Given the description of an element on the screen output the (x, y) to click on. 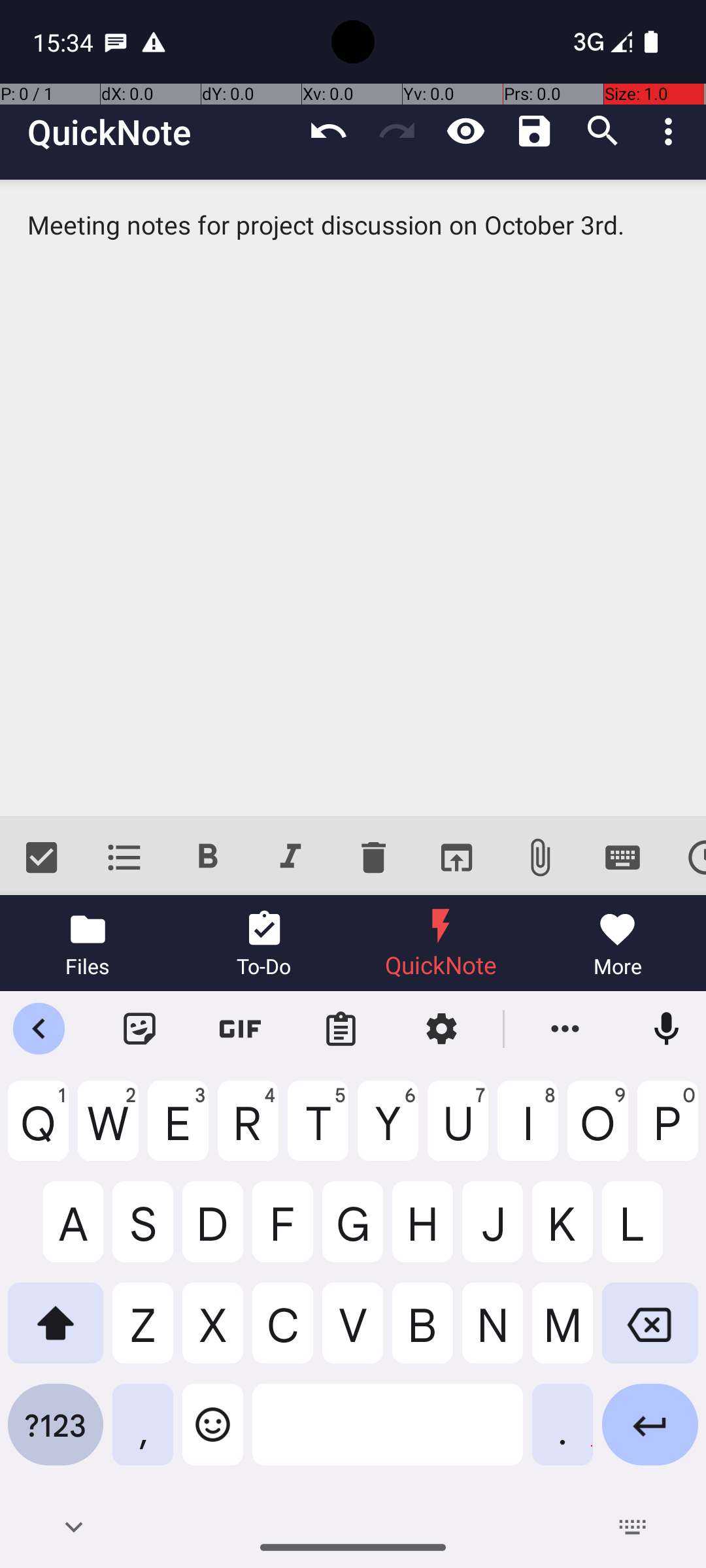
Meeting notes for project discussion on October 3rd.
 Element type: android.widget.EditText (353, 497)
Q Element type: android.widget.FrameLayout (38, 1130)
R Element type: android.widget.FrameLayout (248, 1130)
Y Element type: android.widget.FrameLayout (387, 1130)
U Element type: android.widget.FrameLayout (457, 1130)
O Element type: android.widget.FrameLayout (597, 1130)
P Element type: android.widget.FrameLayout (667, 1130)
G Element type: android.widget.FrameLayout (352, 1231)
H Element type: android.widget.FrameLayout (422, 1231)
J Element type: android.widget.FrameLayout (492, 1231)
K Element type: android.widget.FrameLayout (562, 1231)
L Element type: android.widget.FrameLayout (649, 1231)
Z Element type: android.widget.FrameLayout (142, 1332)
X Element type: android.widget.FrameLayout (212, 1332)
V Element type: android.widget.FrameLayout (352, 1332)
N Element type: android.widget.FrameLayout (492, 1332)
